Given the description of an element on the screen output the (x, y) to click on. 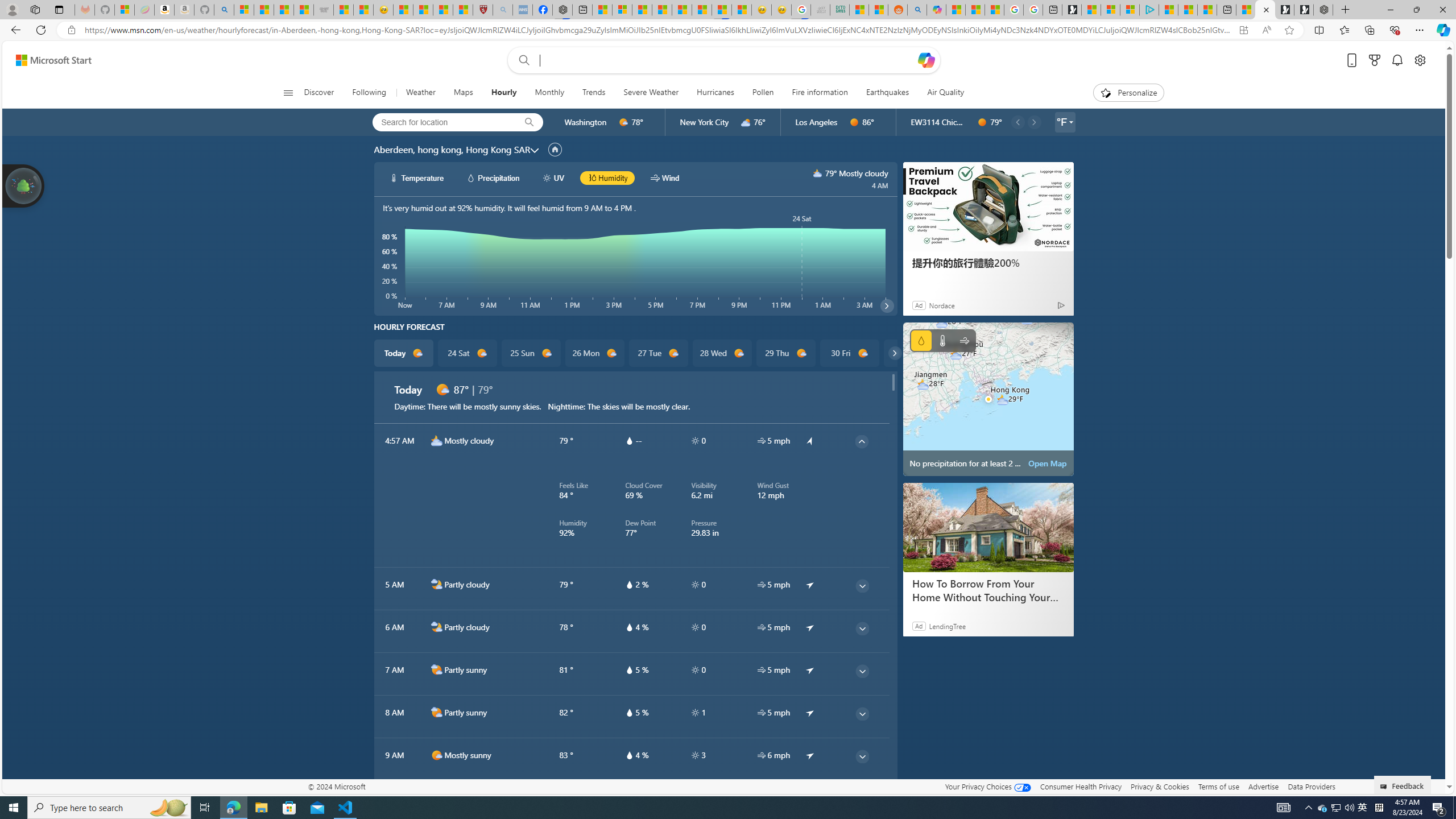
Utah sues federal government - Search (916, 9)
Class: feedback_link_icon-DS-EntryPoint1-1 (1384, 786)
Your Privacy Choices (987, 785)
Aberdeen, hong kong, Hong Kong SAR (451, 149)
Join us in planting real trees to help our planet! (23, 185)
Terms of use (1218, 785)
